Given the description of an element on the screen output the (x, y) to click on. 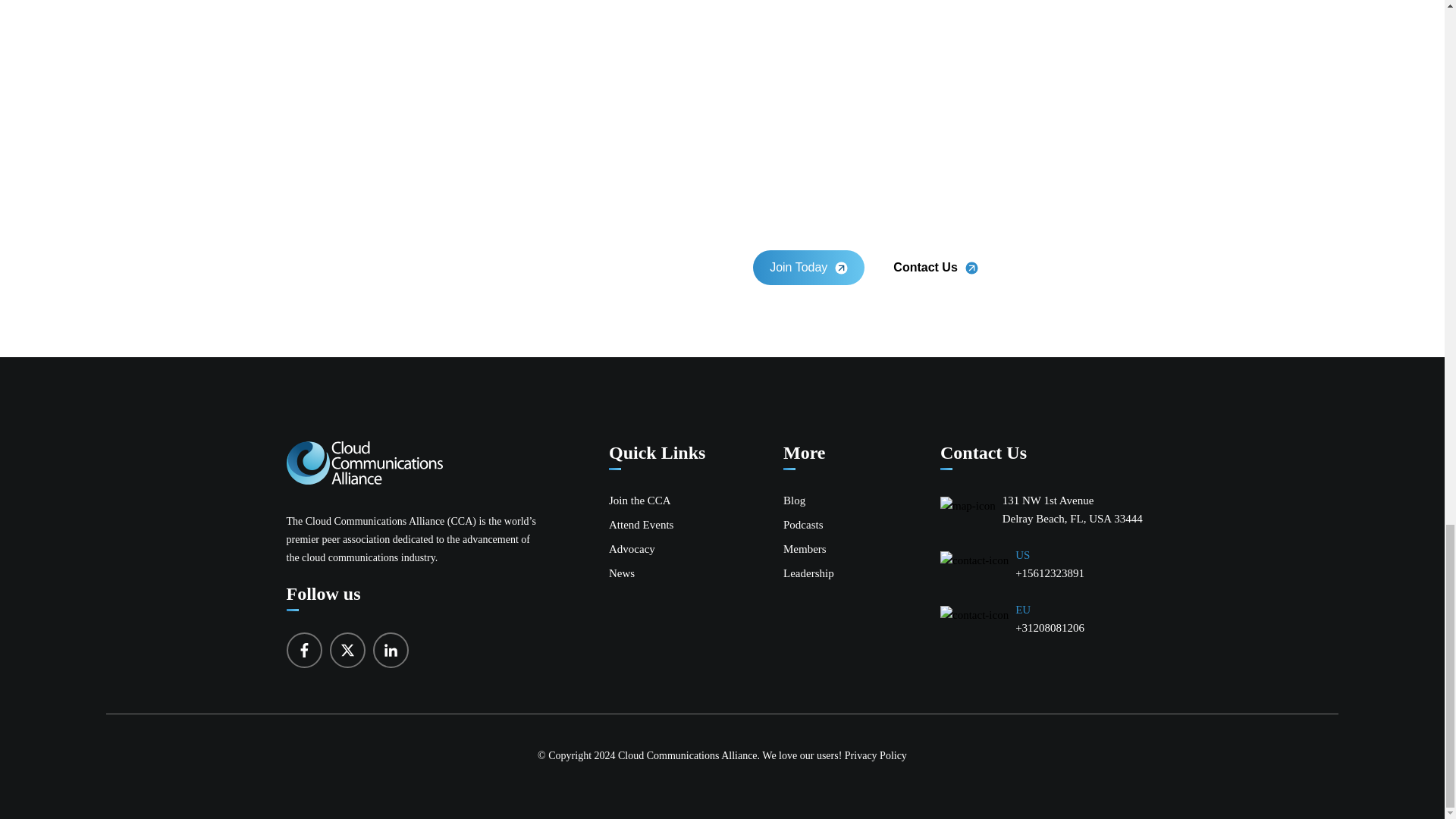
Contact Us (935, 267)
ccalogo (364, 462)
Join the CCA (639, 500)
News (621, 573)
Podcasts (803, 524)
Join Today (808, 267)
Attend Events (640, 524)
Advocacy (631, 548)
Blog (794, 500)
